Given the description of an element on the screen output the (x, y) to click on. 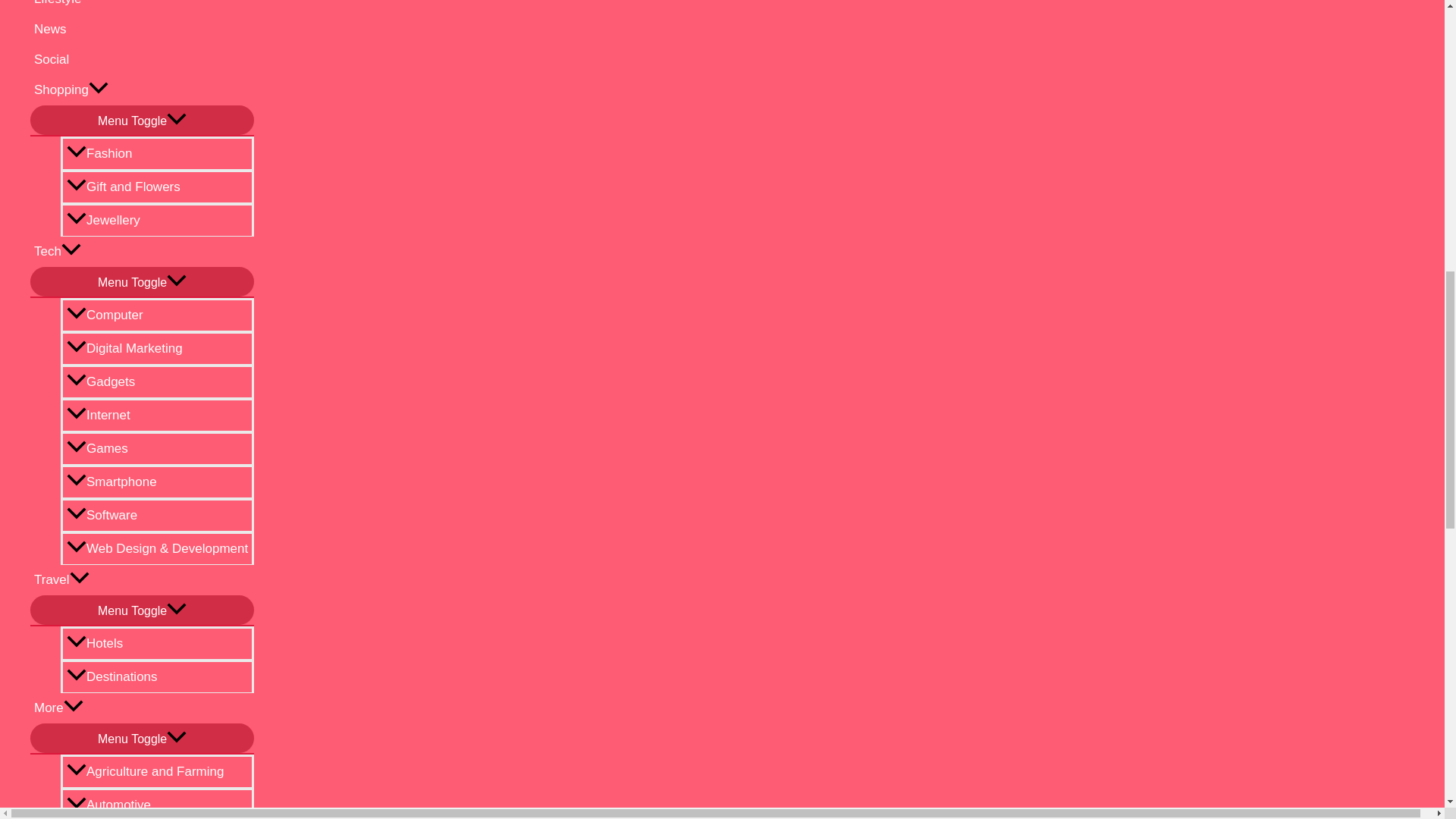
Lifestyle (141, 7)
Social (141, 60)
Menu Toggle (141, 120)
Gift and Flowers (157, 186)
Shopping (141, 90)
Fashion (157, 152)
Computer (157, 314)
Tech (141, 251)
Menu Toggle (141, 281)
News (141, 29)
Jewellery (157, 219)
